Given the description of an element on the screen output the (x, y) to click on. 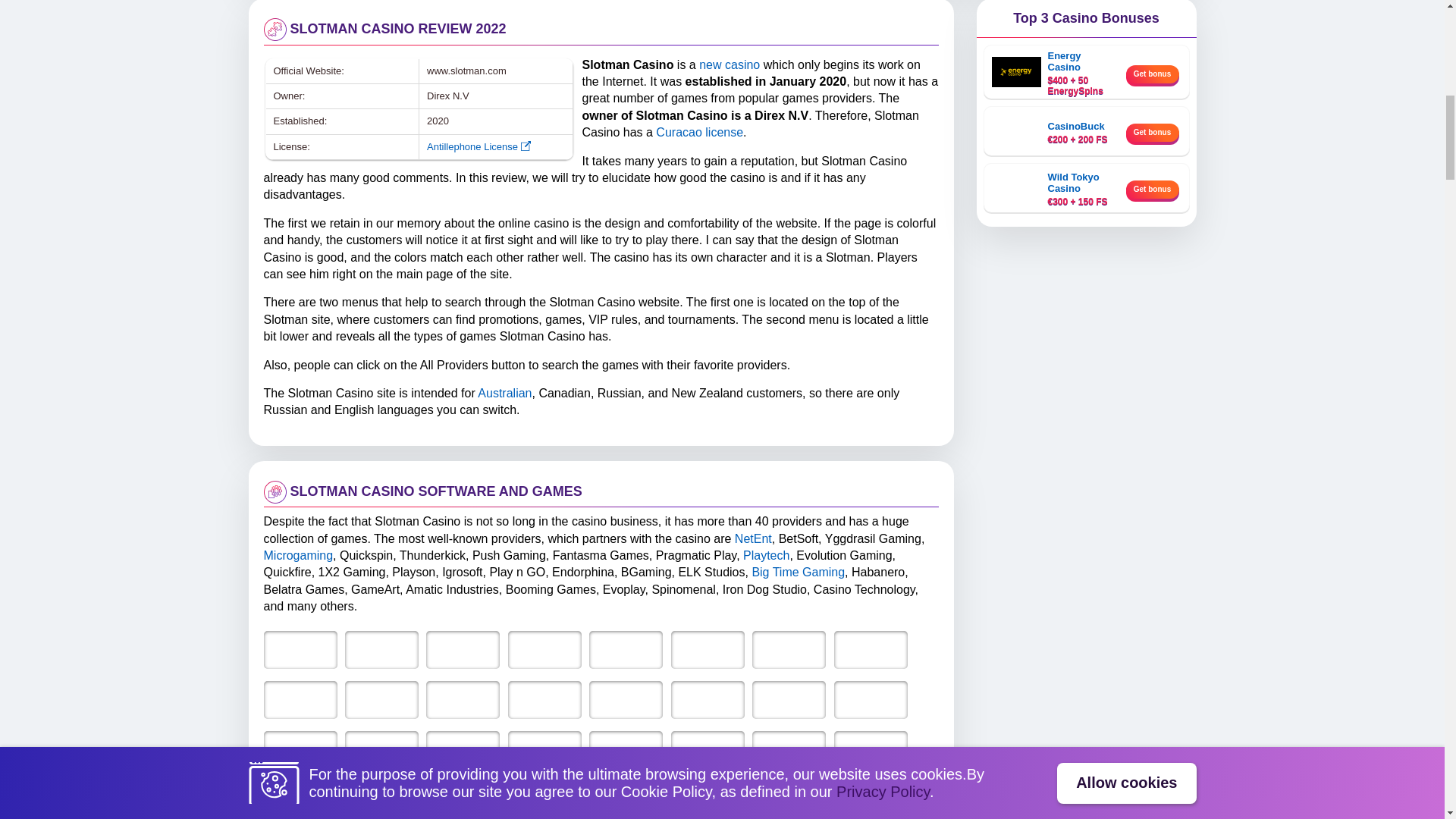
Evolution Gaming (544, 649)
Booming Games (382, 750)
Betsoft (382, 649)
BGaming (462, 699)
GameArt (870, 699)
ELK (544, 699)
Yggdrasil Gaming (462, 649)
Endorphina (382, 699)
Igrosoft (870, 649)
Big Time Gaming (625, 699)
NetEnt (300, 649)
Belatra Games (788, 699)
Evoplay Entertainment (462, 750)
Quickfire (625, 649)
1x2Gaming (707, 649)
